Given the description of an element on the screen output the (x, y) to click on. 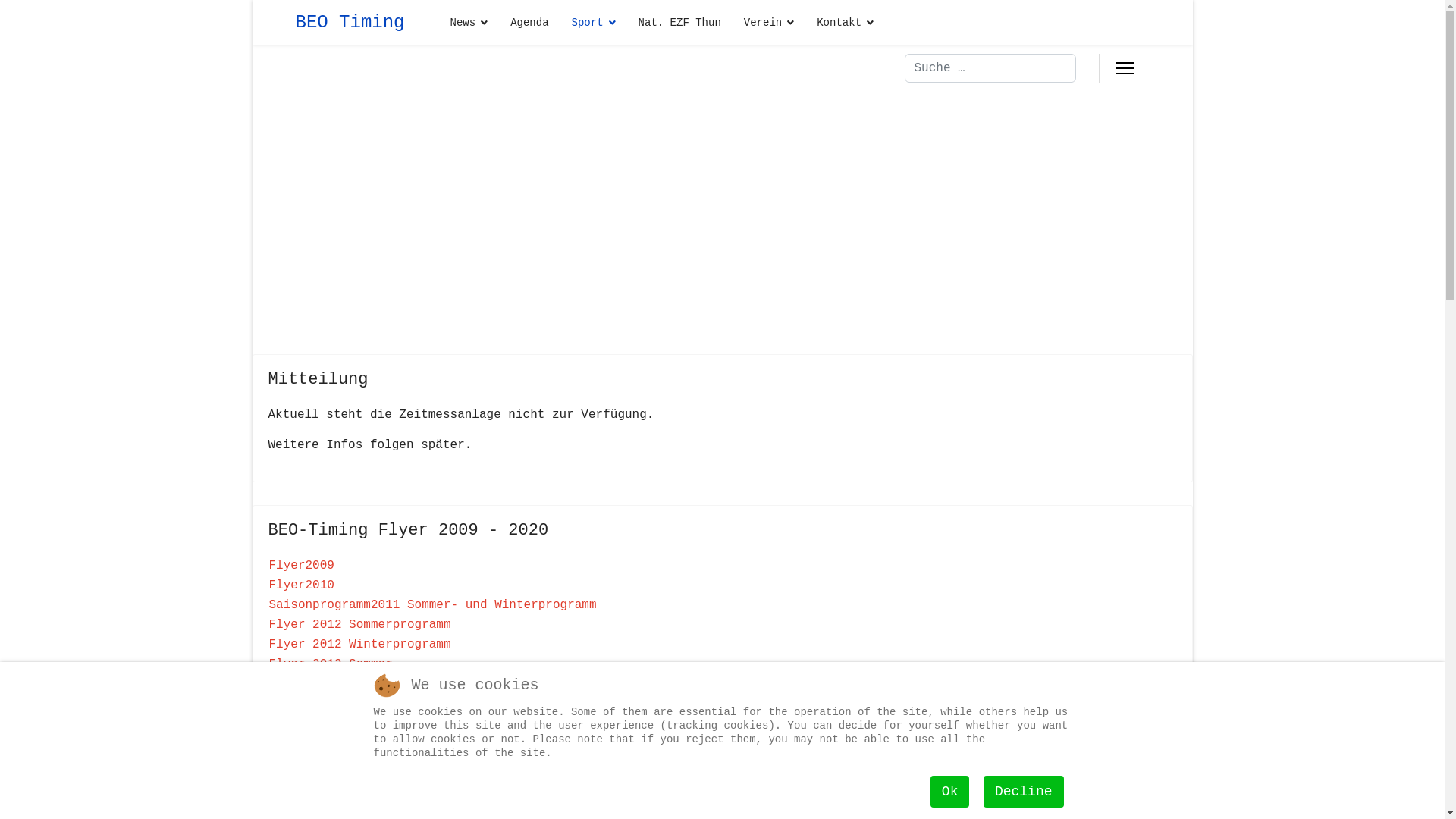
Agenda Element type: text (528, 22)
Flyer 2013 Sommer Element type: text (330, 664)
Flyer2010 Element type: text (300, 585)
Sport Element type: text (593, 22)
Flyer 2015 Element type: text (304, 723)
Saisonprogramm2011 Sommer- und Winterprogramm Element type: text (432, 604)
Flyer 2017 Element type: text (304, 762)
Decline Element type: text (1023, 791)
Flyer 2013 Winter Element type: text (330, 683)
BEO Timing Element type: text (349, 22)
Flyer 2019 Element type: text (304, 802)
Verein Element type: text (768, 22)
Nat. EZF Thun Element type: text (679, 22)
Flyer2009 Element type: text (300, 565)
Flyer 2012 Sommerprogramm Element type: text (359, 624)
Ok Element type: text (949, 791)
Flyer 2014 Element type: text (304, 703)
Menu Element type: hover (1123, 68)
flyer 2016 Element type: text (304, 742)
Kontakt Element type: text (839, 22)
Flyer 2018 Element type: text (304, 782)
News Element type: text (469, 22)
Flyer 2012 Winterprogramm Element type: text (359, 644)
